Given the description of an element on the screen output the (x, y) to click on. 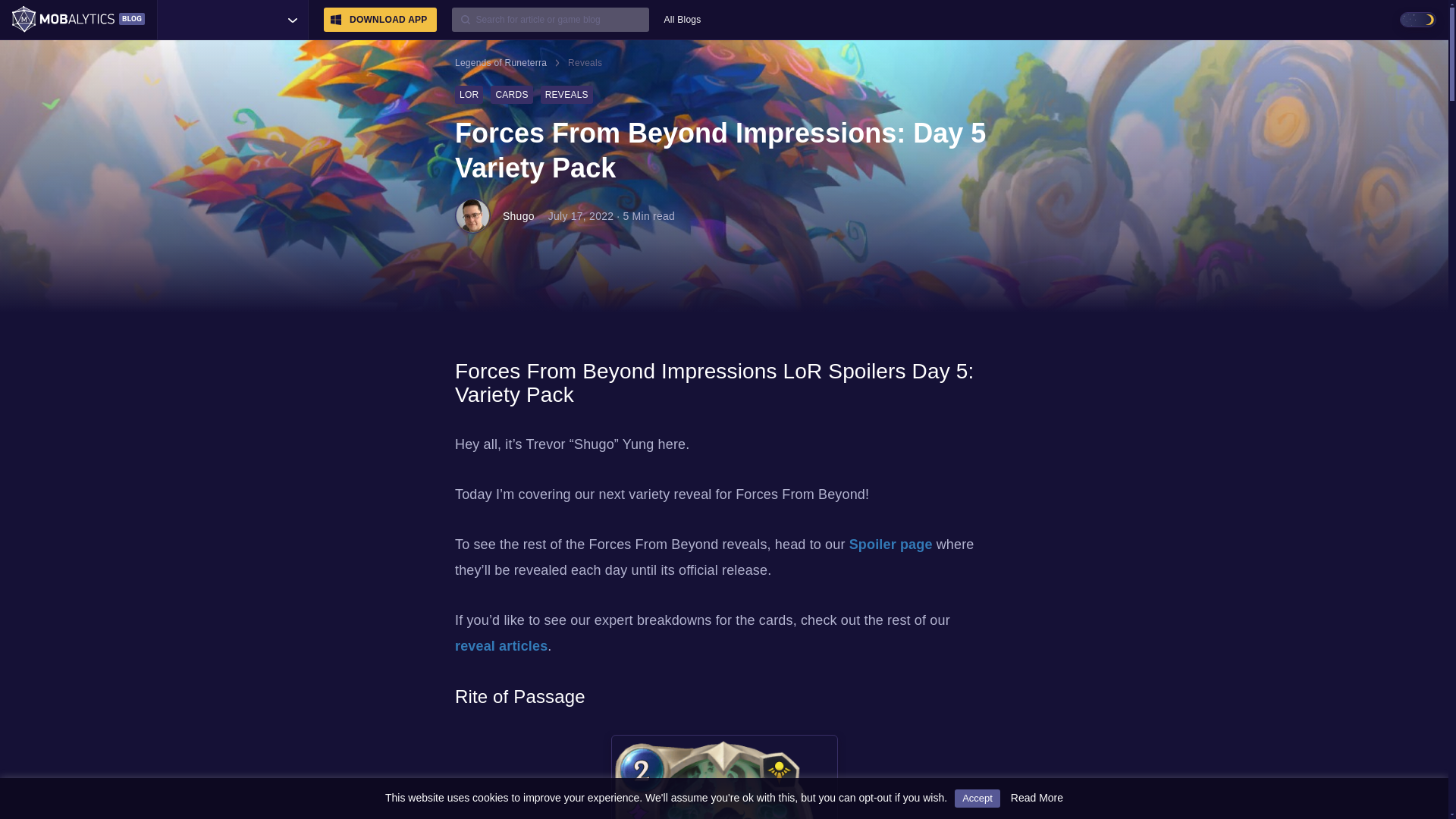
All Blogs (682, 19)
037ec0ac-mobalytics-logo (77, 19)
DOWNLOAD APP (379, 19)
